Given the description of an element on the screen output the (x, y) to click on. 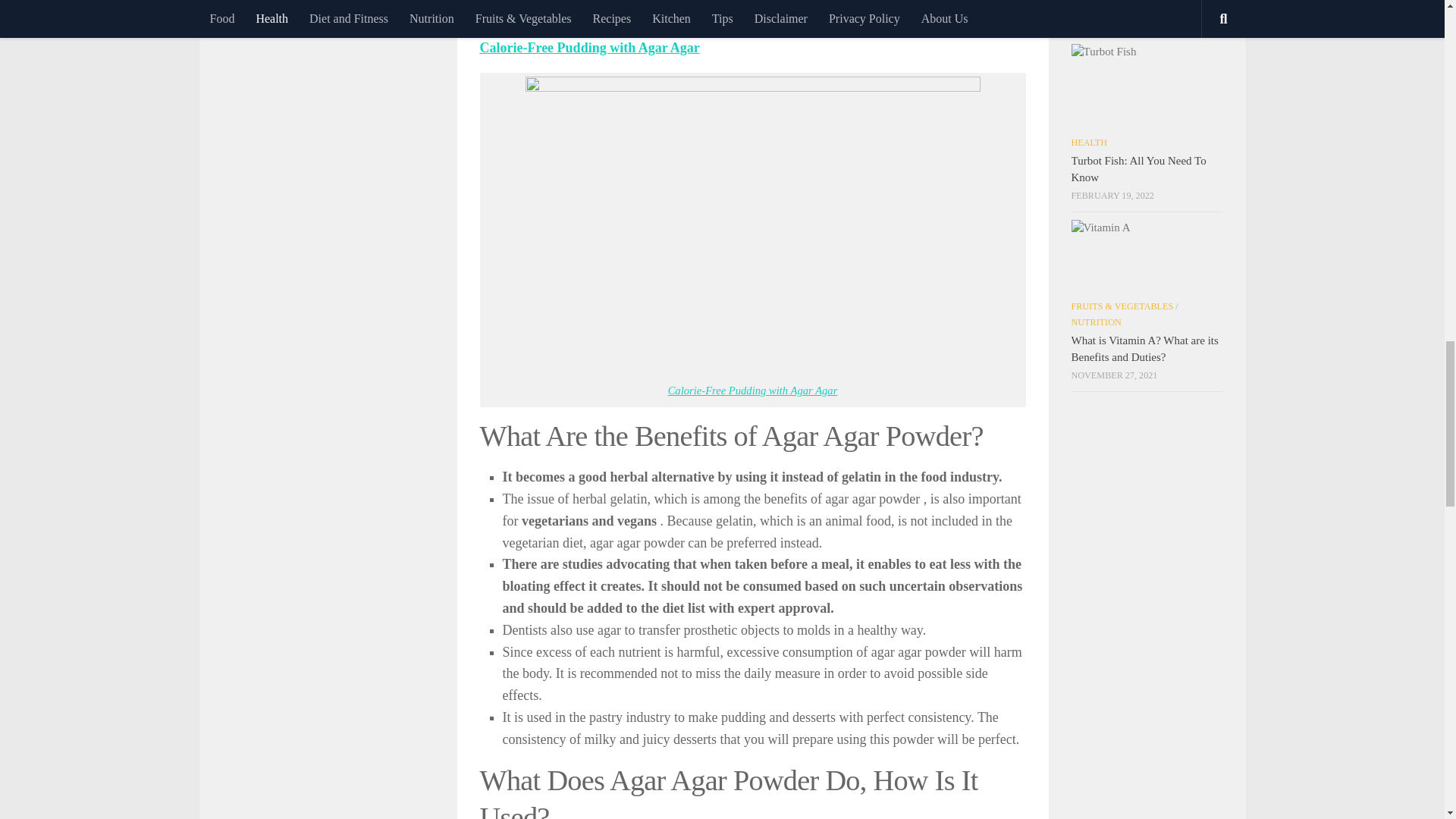
Calorie-Free Pudding with Agar Agar (588, 47)
Calorie-Free Pudding with Agar Agar (753, 390)
